Given the description of an element on the screen output the (x, y) to click on. 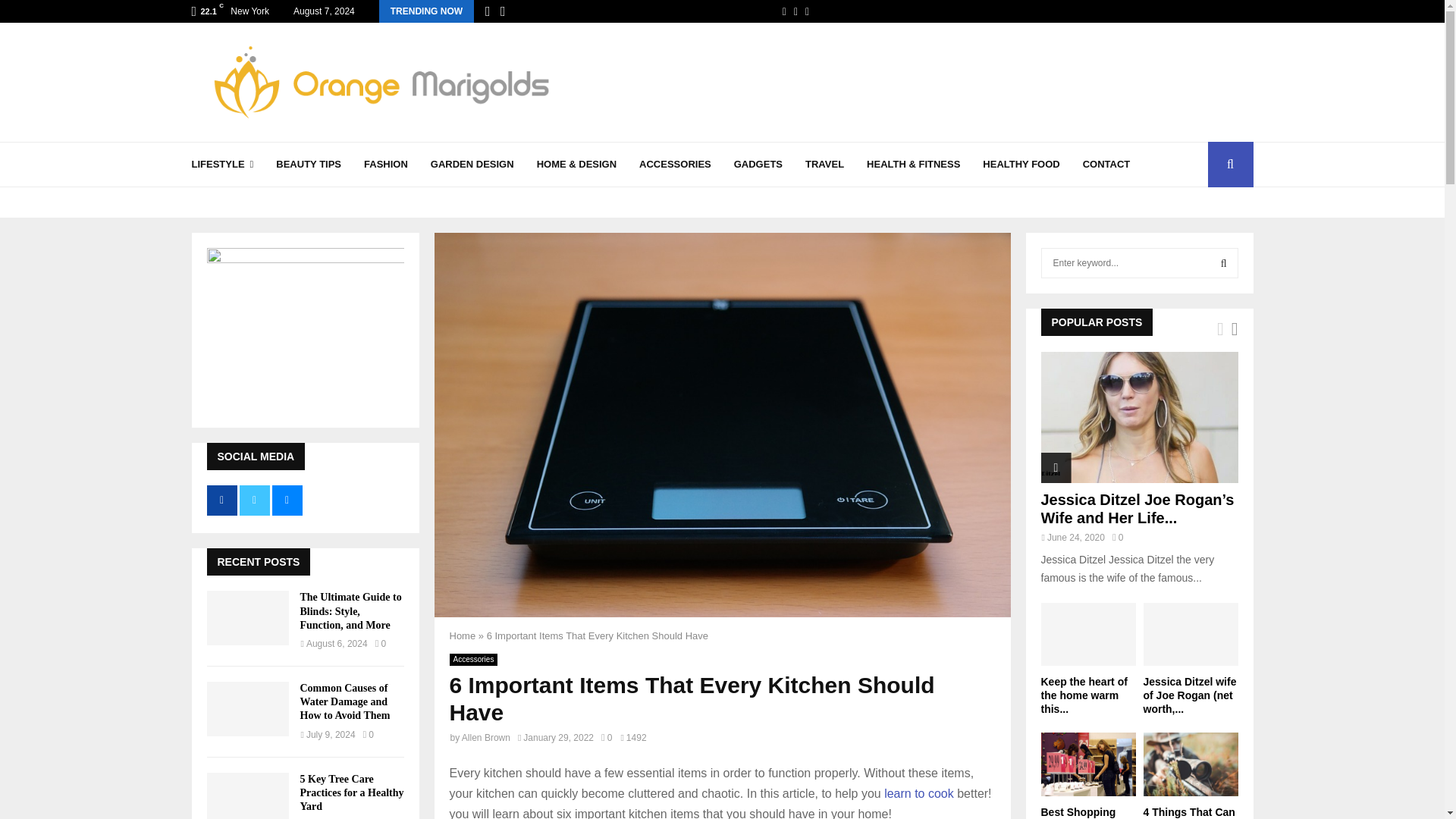
Email (807, 11)
Home (462, 635)
GADGETS (758, 164)
Accessories (472, 659)
learn to cook (918, 793)
FASHION (385, 164)
Twitter (795, 11)
TRAVEL (824, 164)
 The Ultimate Guide to Blinds: Style, Function, and More  (350, 610)
BEAUTY TIPS (308, 164)
Email (807, 11)
Twitter (795, 11)
CONTACT (1107, 164)
Common Causes of Water Damage and How to Avoid Them (247, 708)
ACCESSORIES (675, 164)
